Given the description of an element on the screen output the (x, y) to click on. 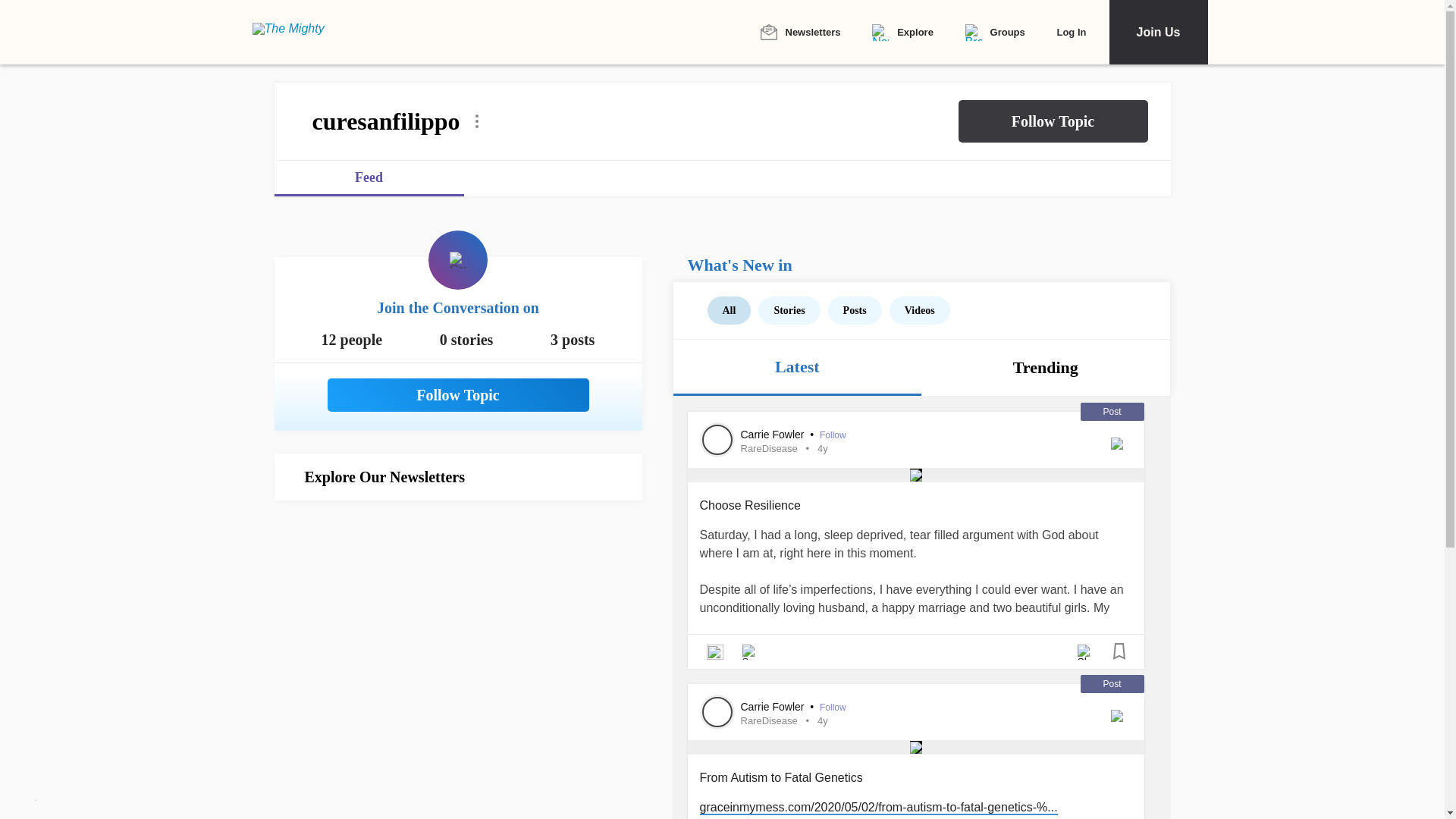
Visit Carrie Fowler's profile (716, 711)
The Mighty (296, 32)
Join Us (1157, 32)
May 20, 2020 (822, 448)
Explore (902, 32)
May 13, 2020 (822, 720)
Carrie Fowler (772, 434)
Groups (995, 32)
Visit Carrie Fowler's profile (716, 440)
Follow (832, 435)
